Given the description of an element on the screen output the (x, y) to click on. 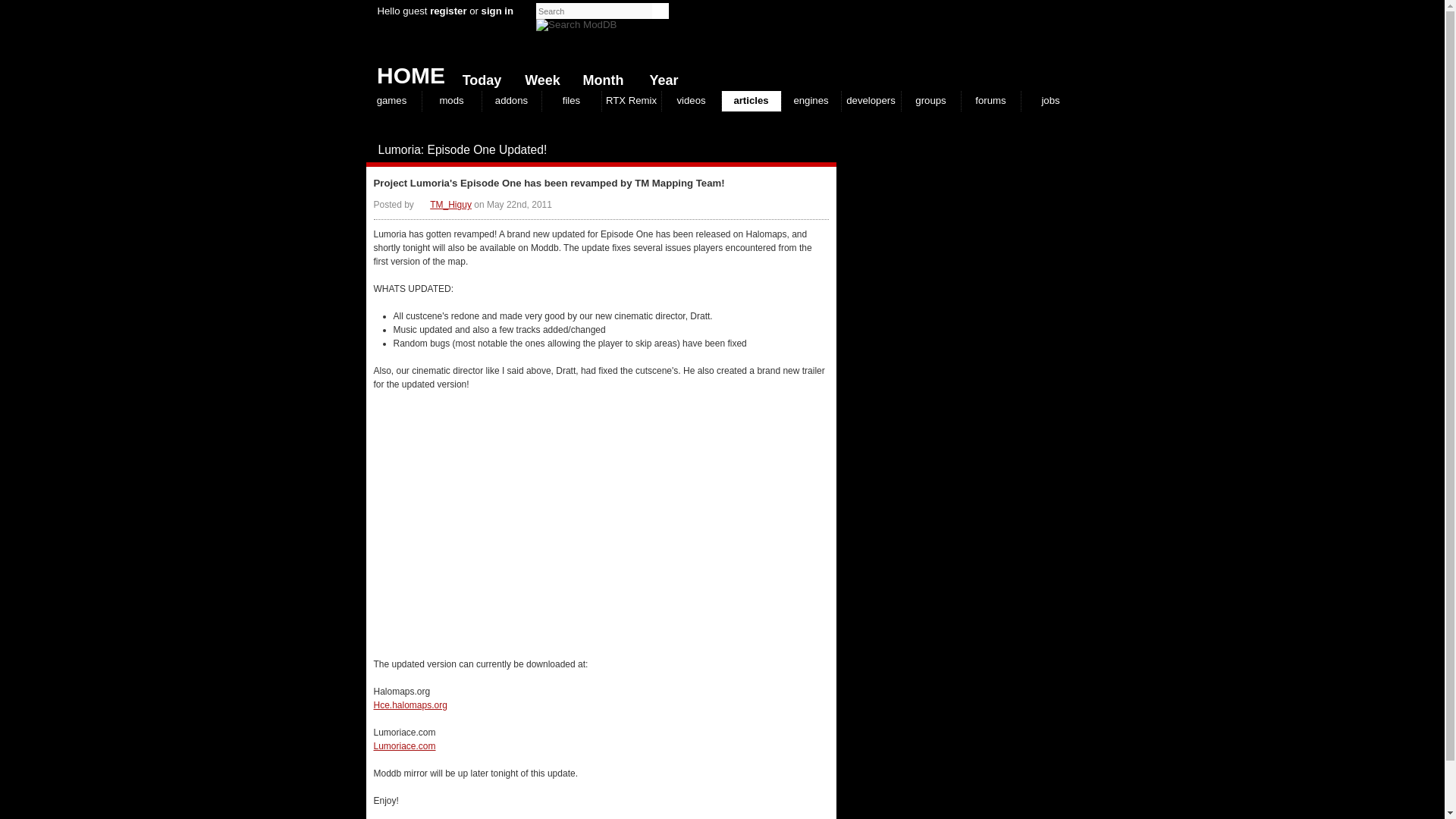
ModDB Home (965, 45)
mods (451, 100)
New this week (539, 76)
Post news (797, 150)
RSS (828, 150)
Report (813, 150)
Search ModDB (576, 24)
Month (599, 76)
Week (539, 76)
Today (478, 76)
HOME (405, 71)
sign in (497, 10)
files (570, 100)
New today (478, 76)
Article Manager (443, 204)
